Given the description of an element on the screen output the (x, y) to click on. 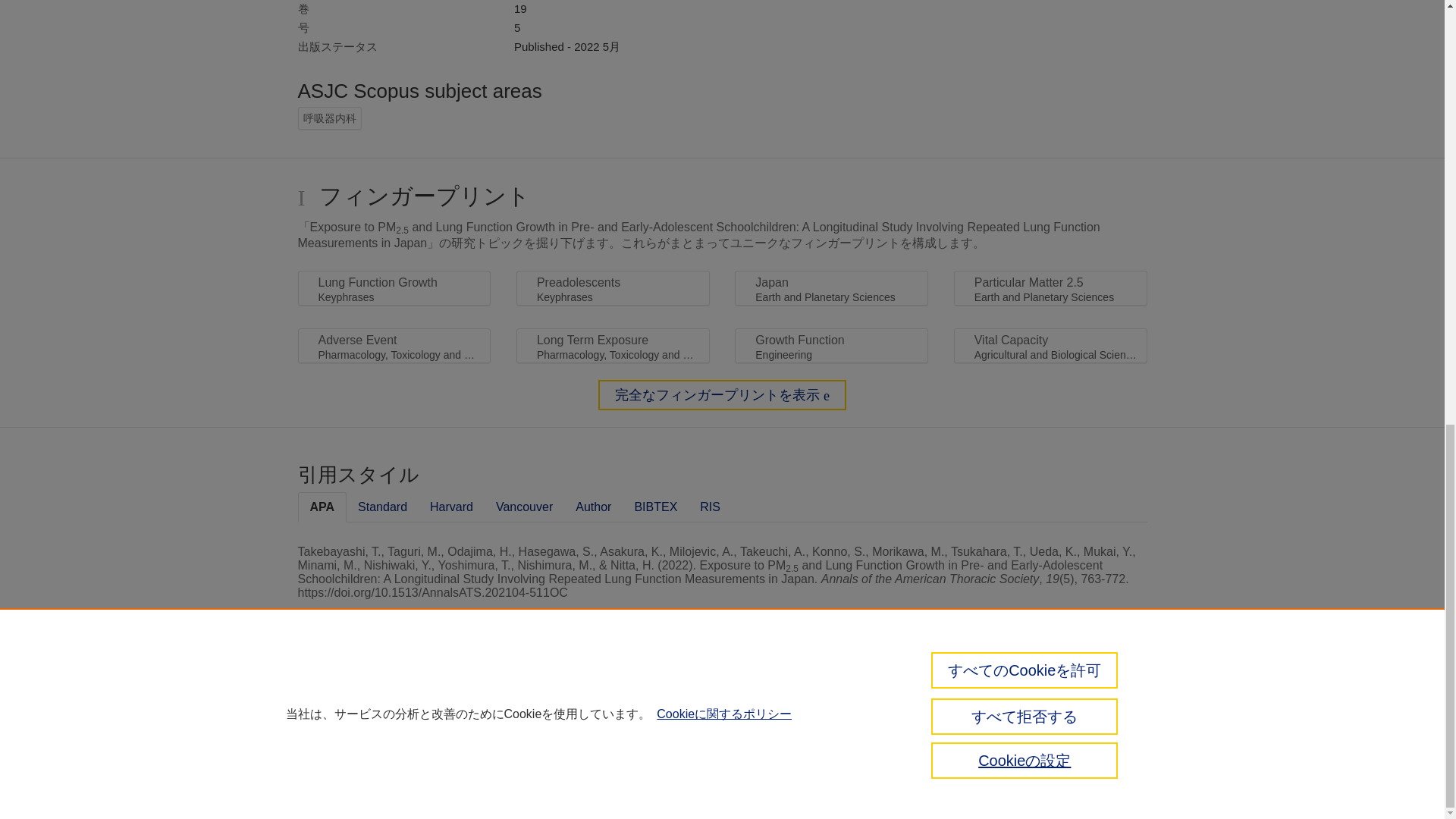
Pure (330, 699)
Elsevier B.V. (545, 722)
Scopus (362, 699)
